Given the description of an element on the screen output the (x, y) to click on. 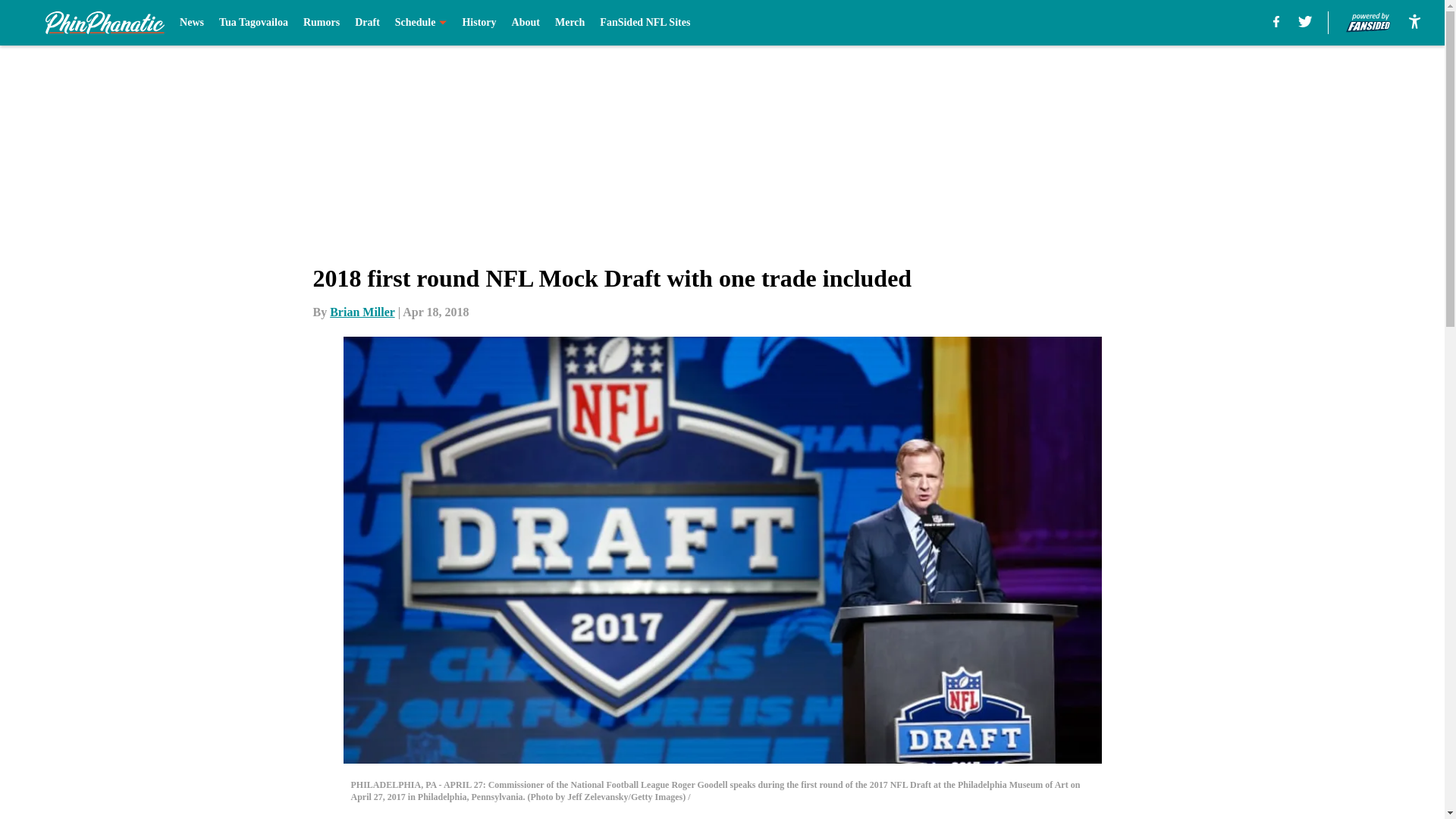
FanSided NFL Sites (644, 22)
Rumors (320, 22)
Brian Miller (362, 311)
About (526, 22)
News (191, 22)
History (478, 22)
Tua Tagovailoa (253, 22)
Draft (367, 22)
Merch (569, 22)
